Given the description of an element on the screen output the (x, y) to click on. 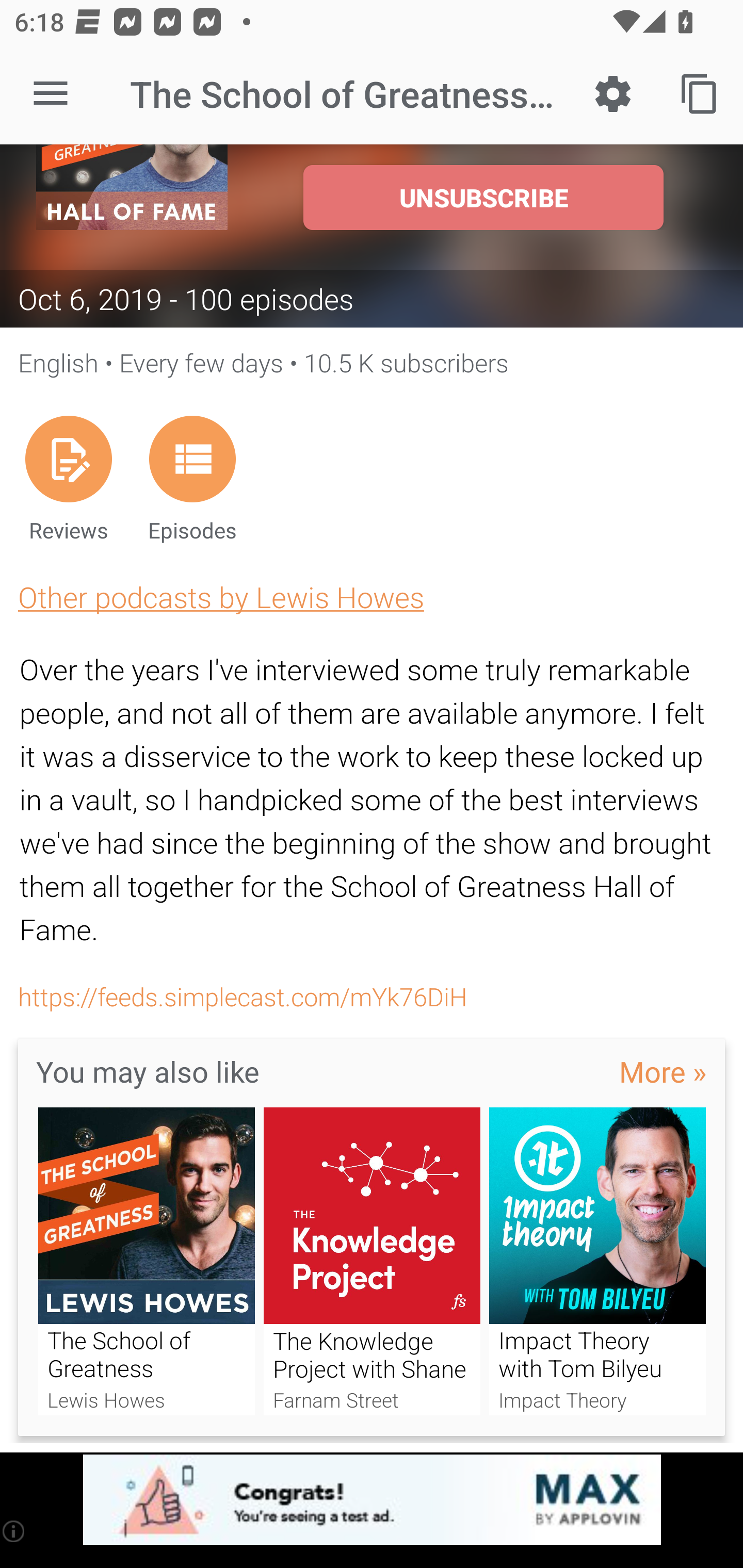
Open navigation sidebar (50, 93)
Settings (612, 93)
Copy feed url to clipboard (699, 93)
UNSUBSCRIBE (483, 197)
Reviews (68, 478)
Episodes (192, 478)
Other podcasts by Lewis Howes (220, 596)
More » (662, 1071)
The School of Greatness Lewis Howes (145, 1261)
Impact Theory with Tom Bilyeu Impact Theory (596, 1261)
app-monetization (371, 1500)
(i) (14, 1531)
